Given the description of an element on the screen output the (x, y) to click on. 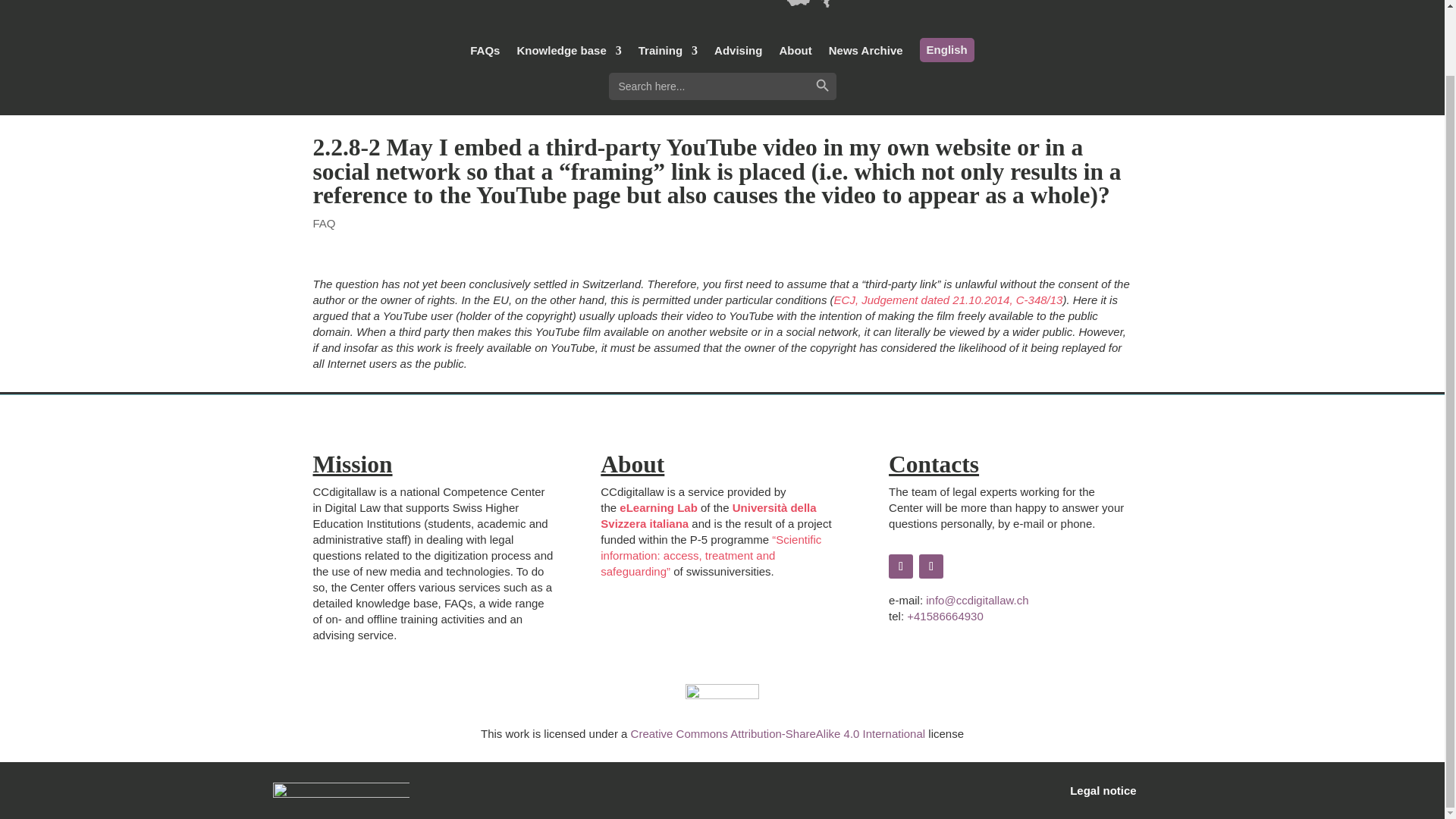
Logo CCDL colori-grigio (722, 4)
Follow on Facebook (900, 566)
FAQ (323, 222)
Search Button (821, 85)
News Archive (865, 54)
About (794, 54)
English (947, 49)
Advising (737, 54)
FAQs (484, 54)
Training (668, 54)
Creative Commons Attribution-ShareAlike 4.0 International (778, 733)
Knowledge base (568, 54)
English (947, 49)
eLearning Lab (658, 507)
Follow on LinkedIn (930, 566)
